Given the description of an element on the screen output the (x, y) to click on. 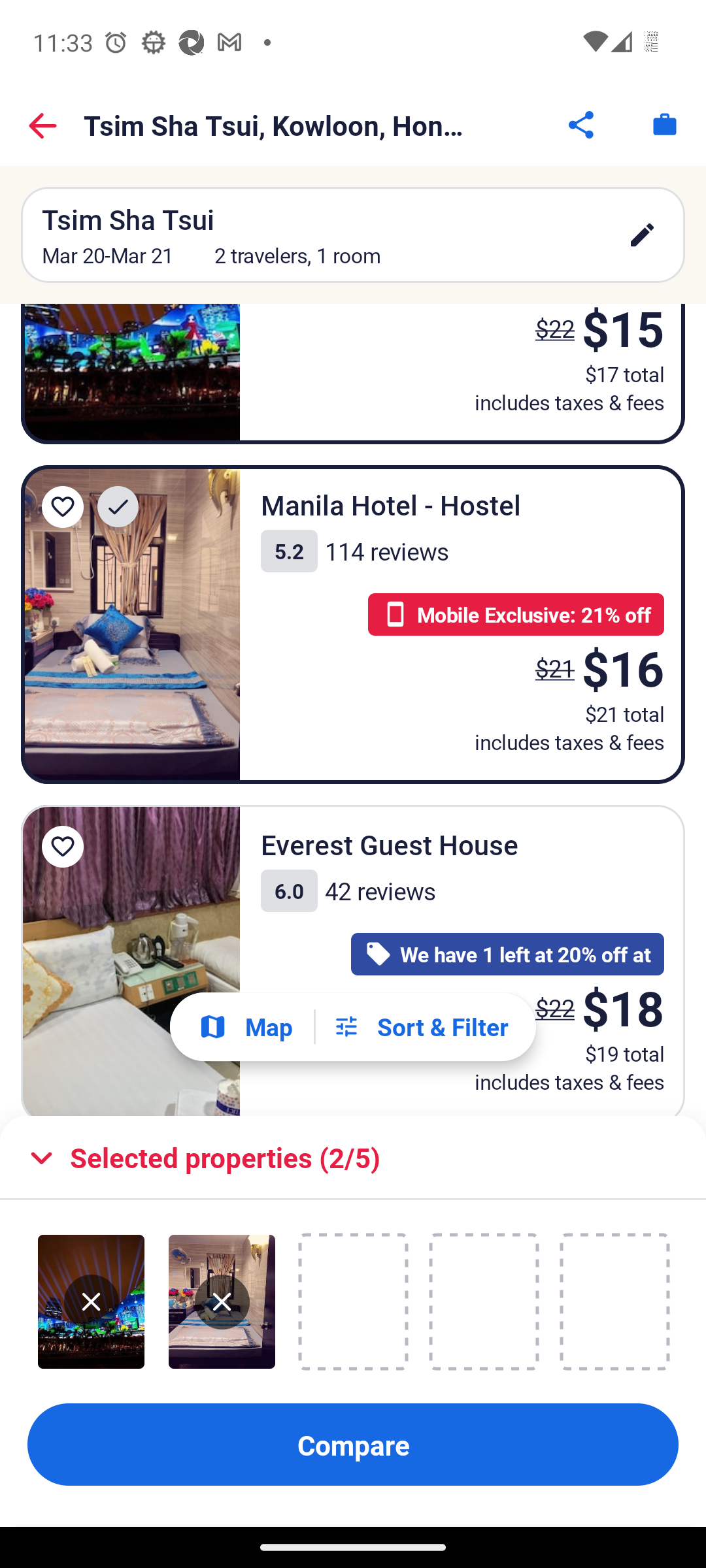
Share Button (582, 124)
Trips. Button (664, 124)
Everest Hostel (130, 373)
$22 The price was $22 (548, 337)
Manila Hotel - Hostel (130, 624)
Save Manila Hotel - Hostel to a trip (62, 506)
$21 The price was $21 (554, 667)
Everest Guest House (130, 960)
Save Everest Guest House to a trip (62, 846)
$22 The price was $22 (554, 1007)
Filters Sort & Filter Filters Button (420, 1026)
Show map Map Show map Button (244, 1025)
Unselect Everest Hostel (91, 1301)
Unselect Manila Hotel - Hostel (221, 1301)
Compare Properties Compare (352, 1444)
